Given the description of an element on the screen output the (x, y) to click on. 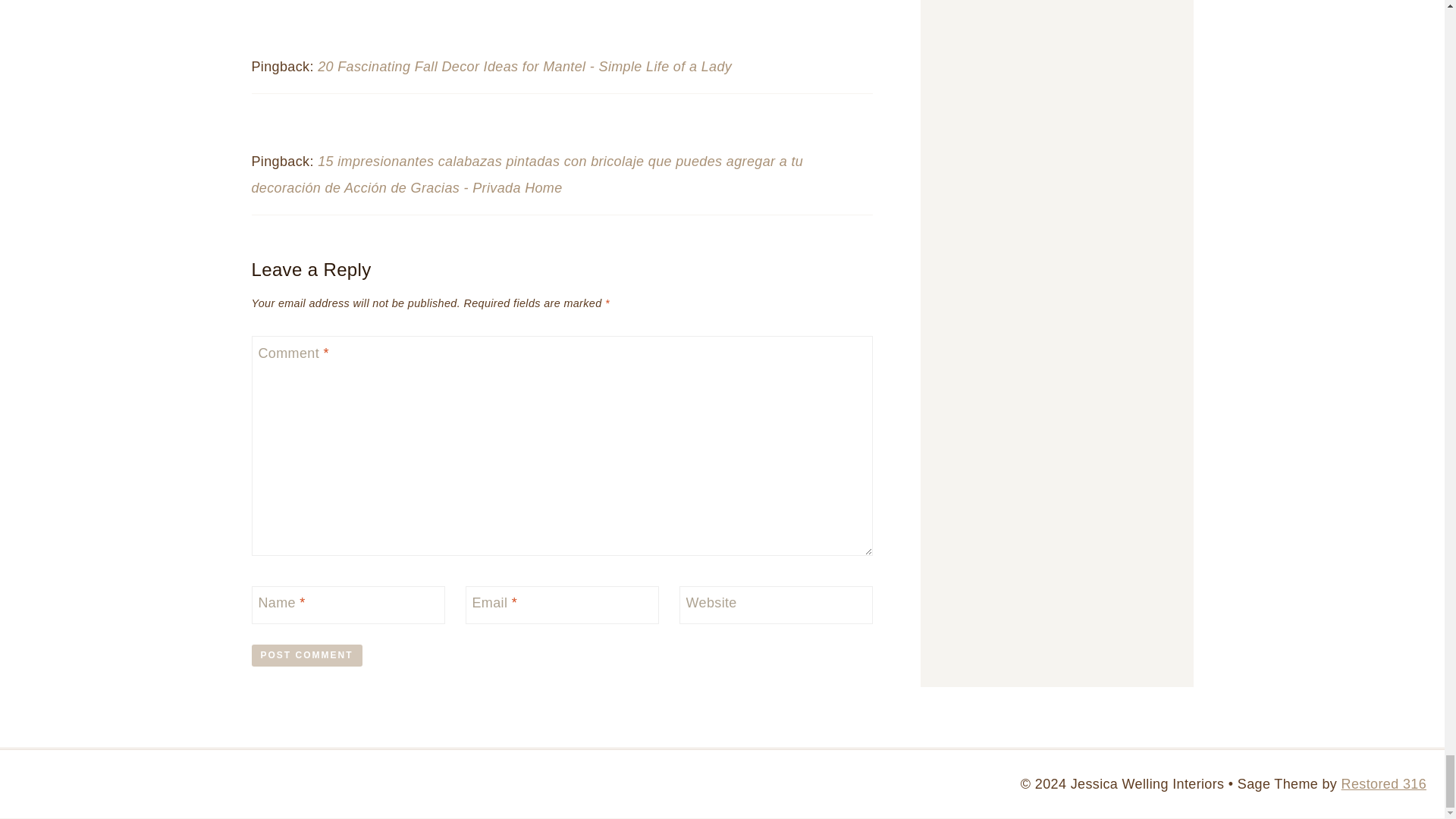
Post Comment (306, 655)
